Given the description of an element on the screen output the (x, y) to click on. 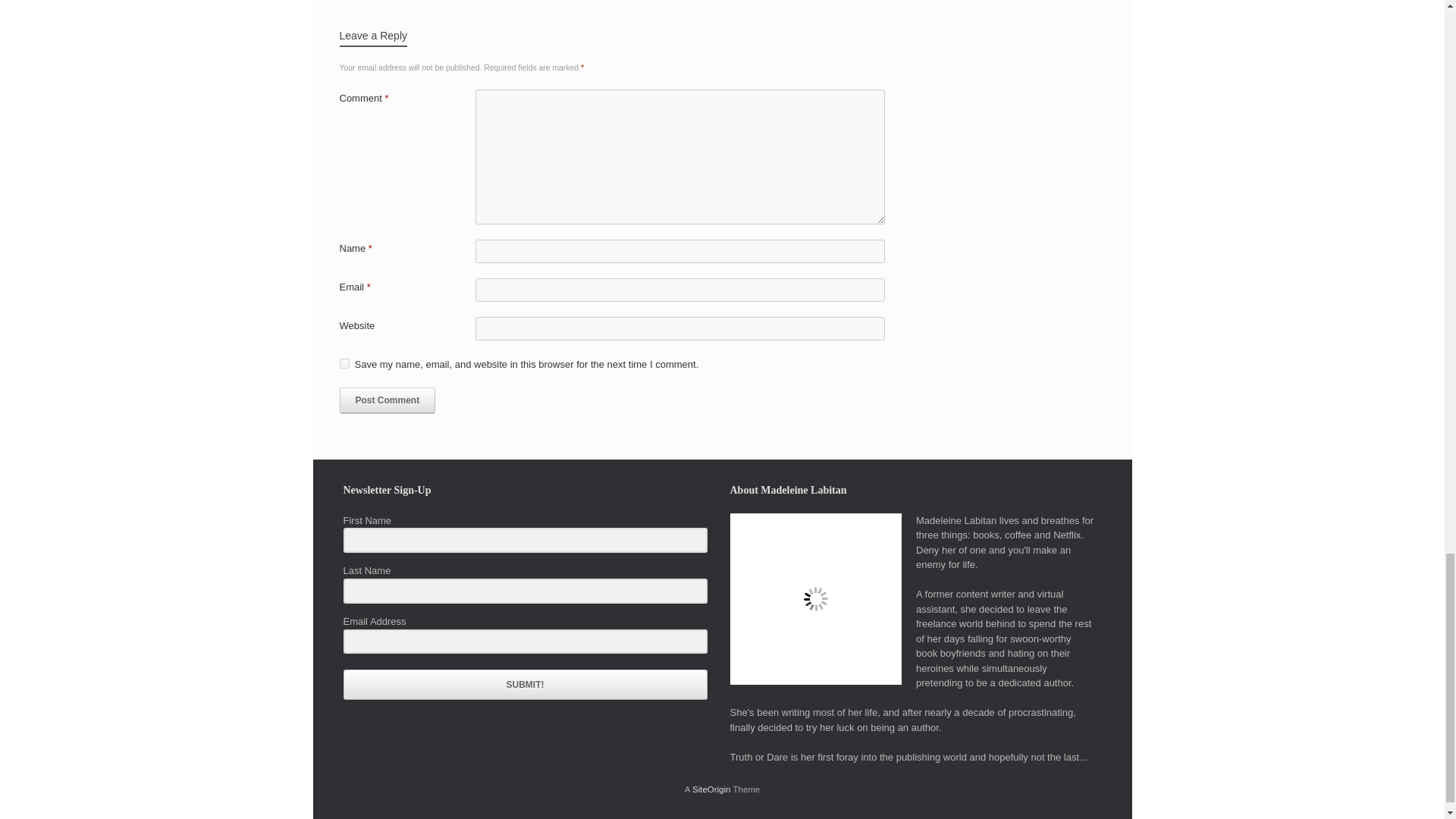
yes (344, 363)
Post Comment (387, 400)
Post Comment (387, 400)
